Given the description of an element on the screen output the (x, y) to click on. 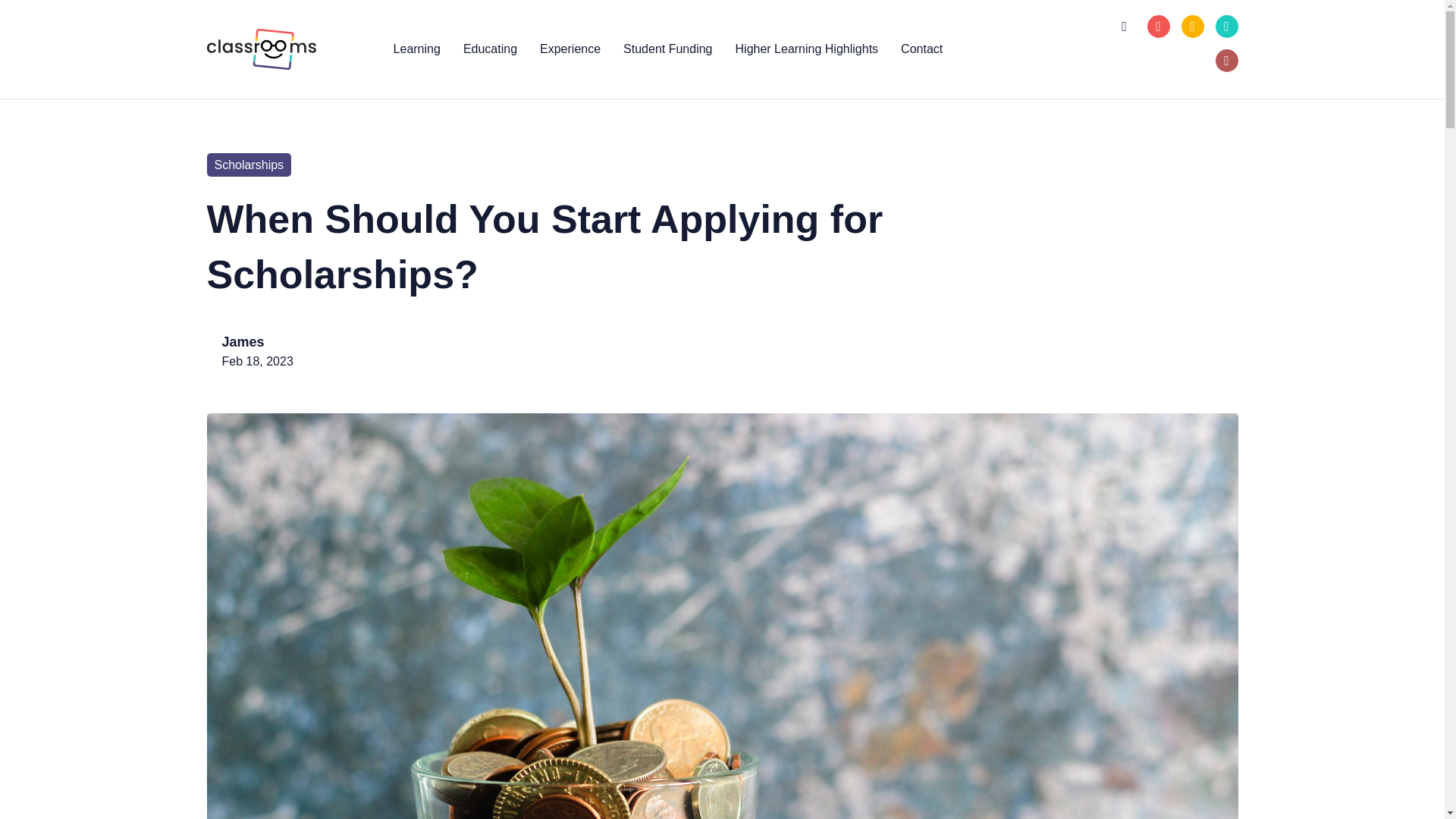
James (242, 341)
Higher Learning Highlights (806, 49)
Learning (416, 49)
Student Funding (667, 49)
Scholarships (248, 164)
Educating (489, 49)
Experience (569, 49)
Contact (921, 49)
